Given the description of an element on the screen output the (x, y) to click on. 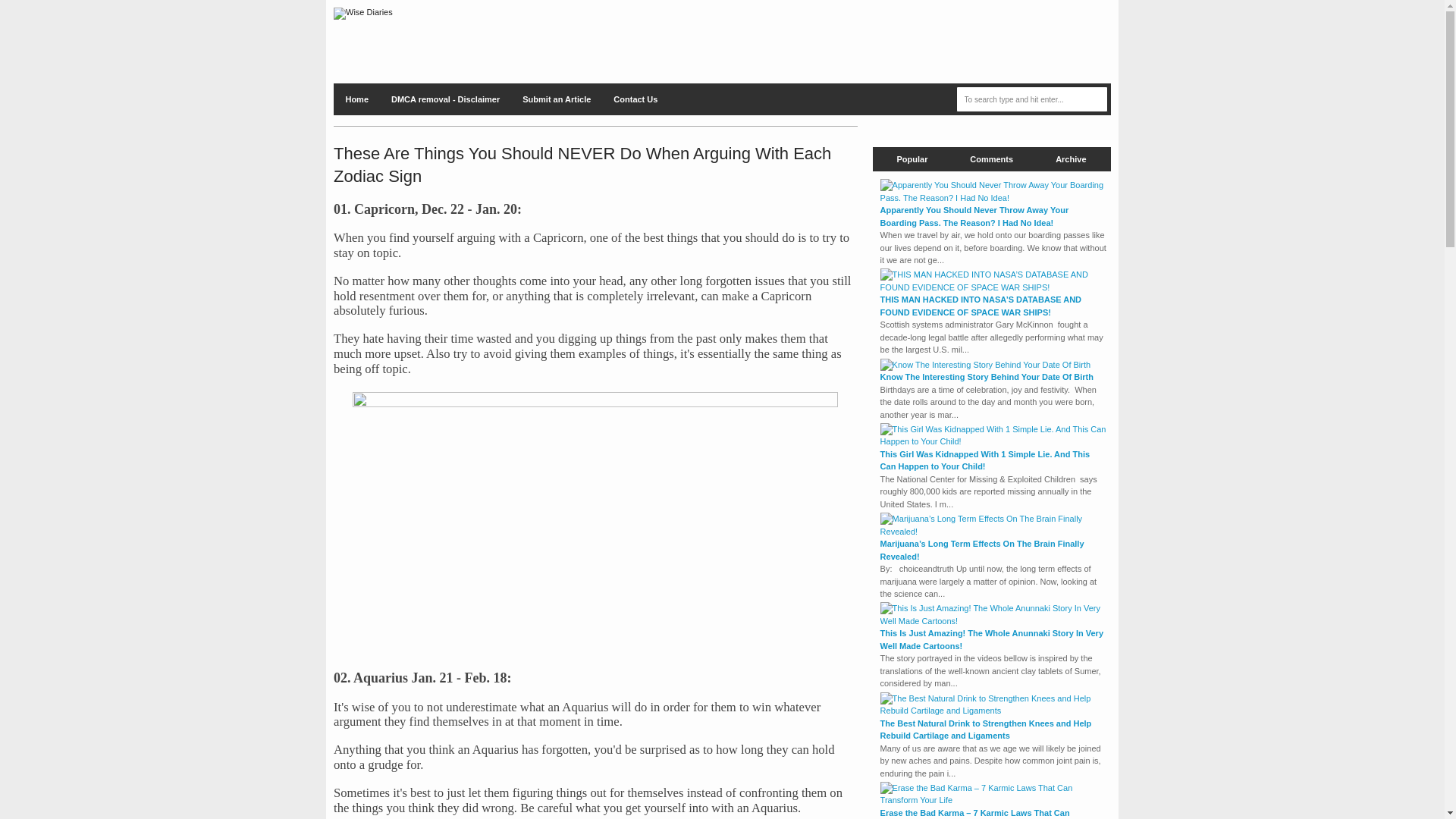
Home (356, 99)
Know The Interesting Story Behind Your Date Of Birth (986, 376)
Submit an Article (556, 99)
Comments (991, 159)
DMCA removal - Disclaimer (445, 99)
Contact Us (635, 99)
To search type and hit enter... (1032, 99)
Archive (1070, 159)
Know The Interesting Story Behind Your Date Of Birth (985, 363)
